Given the description of an element on the screen output the (x, y) to click on. 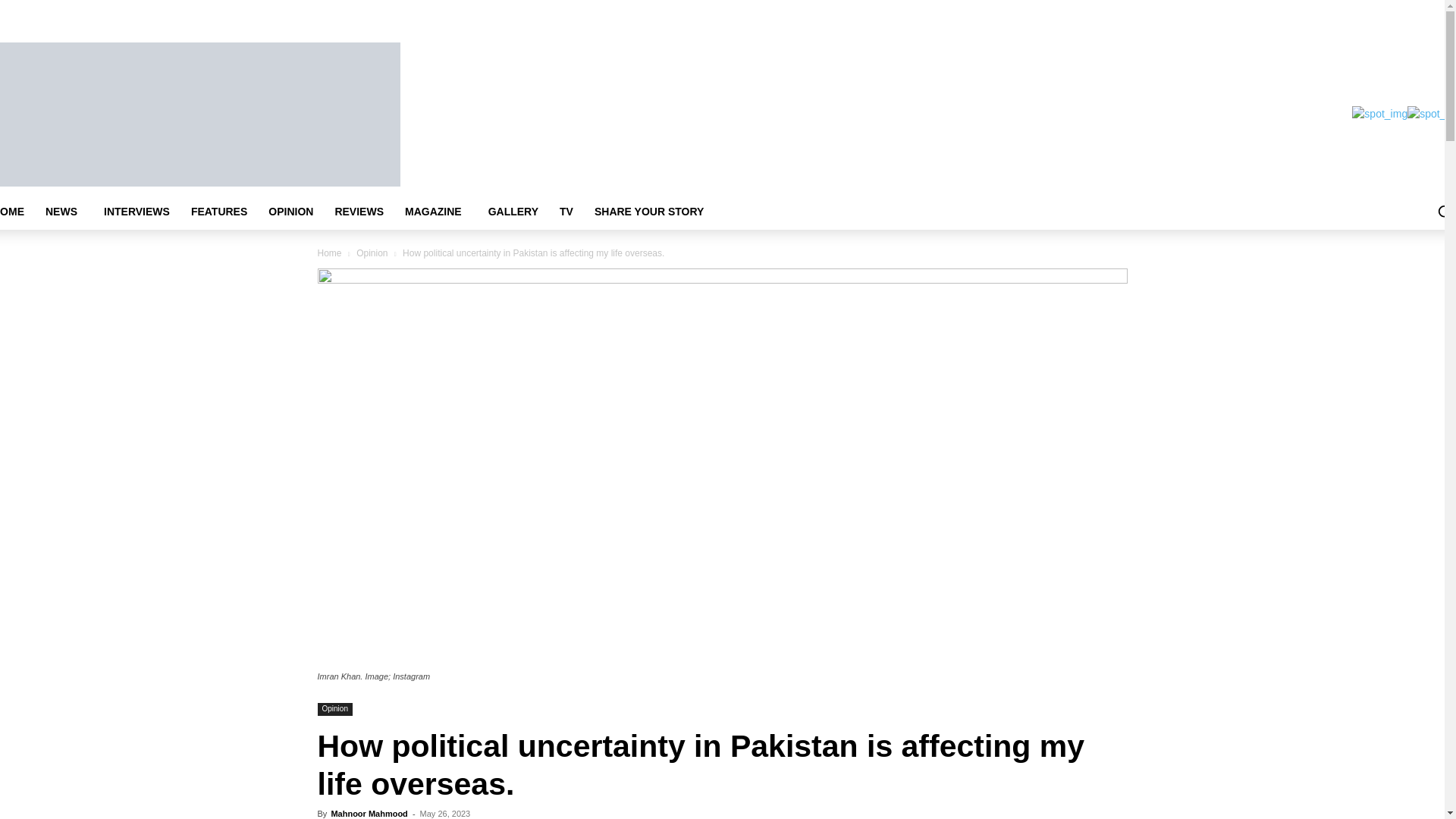
Career (611, 10)
NEWS (63, 211)
Instagram (1018, 9)
Youtube (1082, 9)
Advertise (568, 10)
Twitter (1039, 9)
HOME (17, 211)
Home (481, 10)
About Us (521, 10)
Contact Us (656, 10)
